Given the description of an element on the screen output the (x, y) to click on. 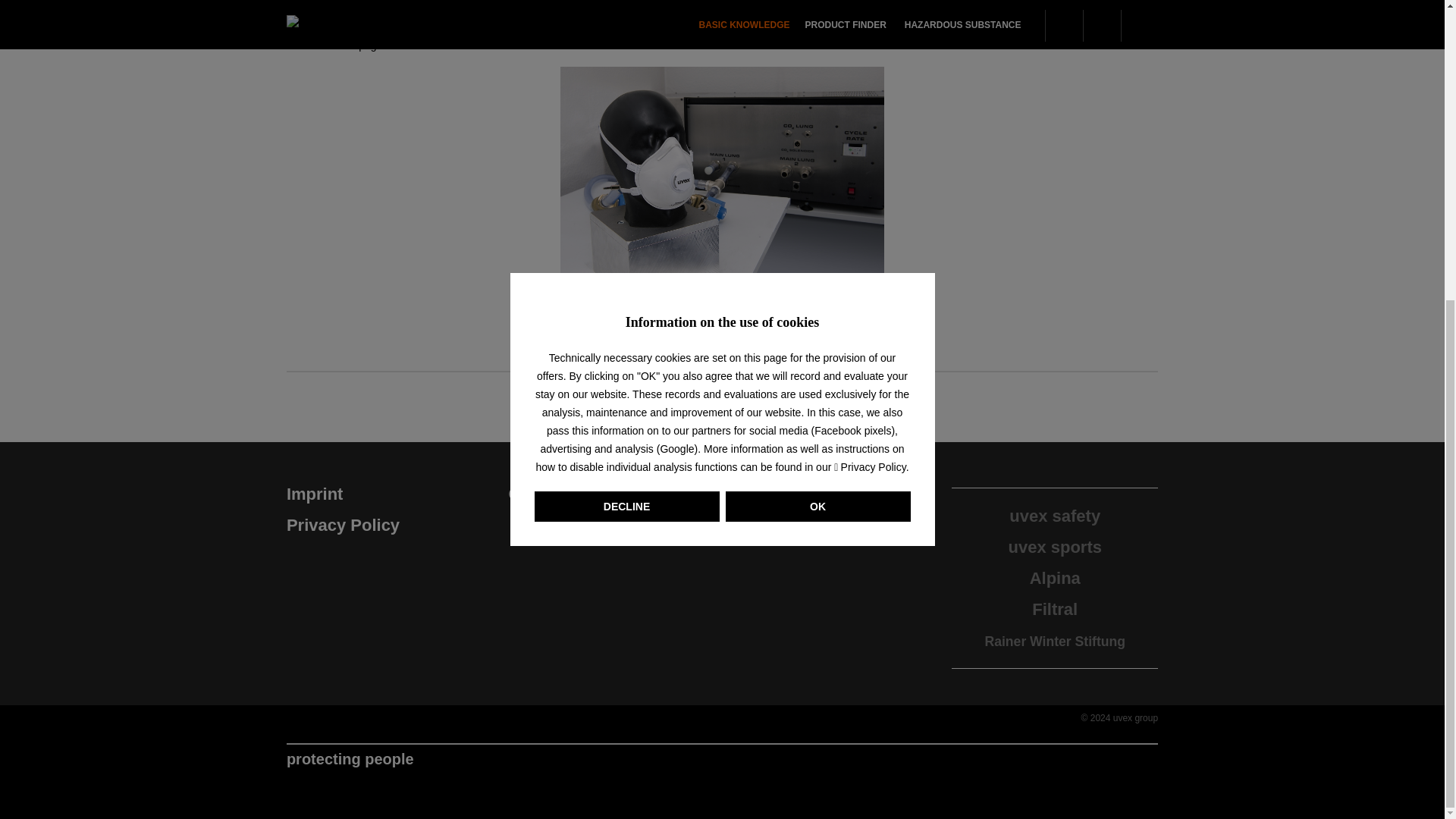
OK (817, 40)
Privacy Policy (869, 3)
DECLINE (626, 40)
